Given the description of an element on the screen output the (x, y) to click on. 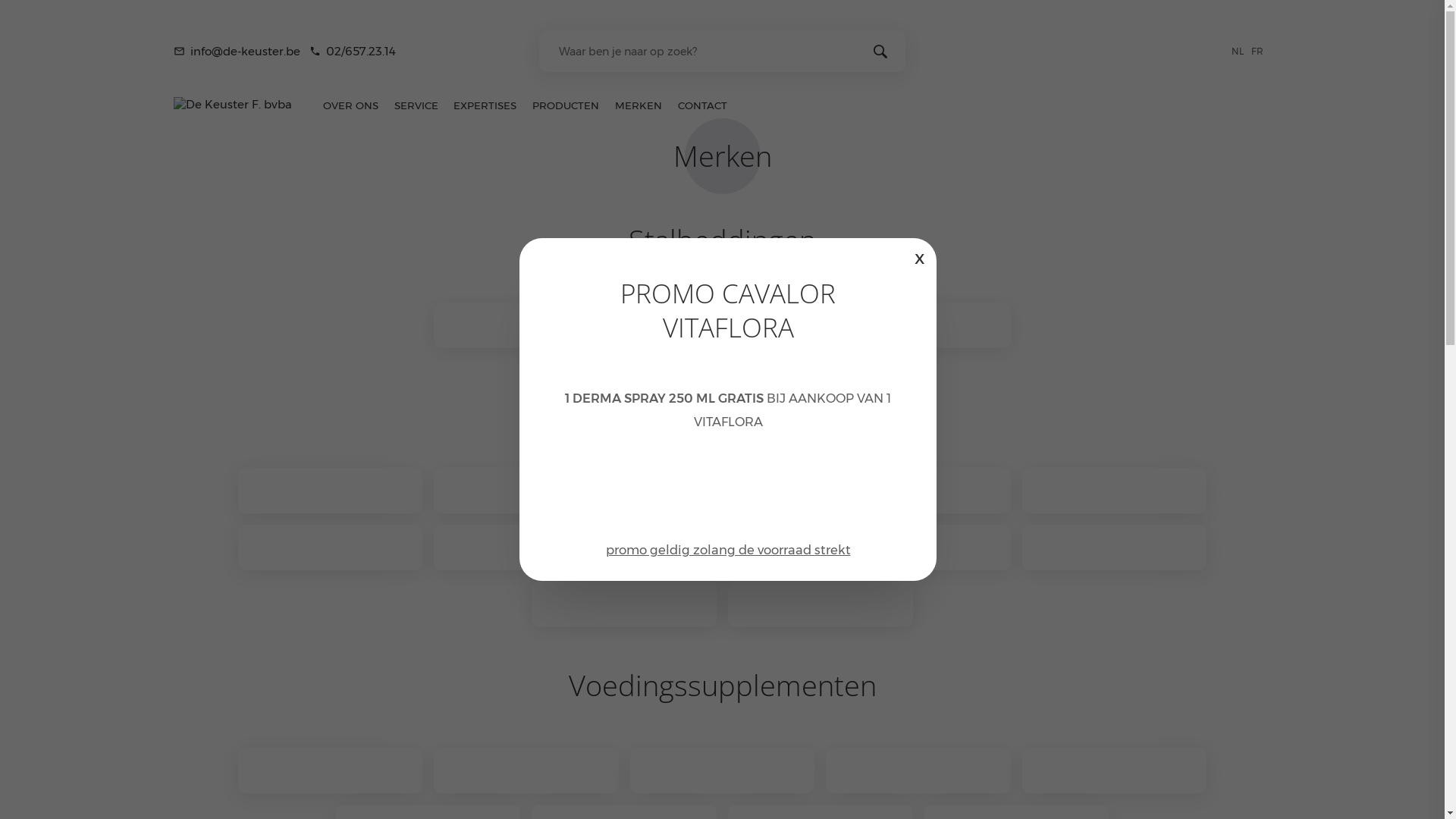
EQUIFIRST Element type: hover (1114, 490)
DODSON & HORRELL Element type: hover (330, 490)
BLEU-ROY Element type: hover (820, 604)
De Keuster F. bvba Element type: hover (232, 104)
EQUIBIOME / AGRITON Element type: hover (917, 325)
OVER ONS Element type: text (350, 105)
CONTACT Element type: text (702, 105)
phone
02/657.23.14 Element type: text (352, 51)
PRODUCTEN Element type: text (565, 105)
VITAL HERBS Element type: hover (722, 770)
JOPACK Element type: hover (917, 547)
CAVALOR Element type: hover (525, 490)
PAVO Element type: hover (722, 547)
SERVICE Element type: text (415, 105)
EXPERTISES Element type: text (485, 105)
JOPACK Element type: hover (722, 325)
FR Element type: text (1260, 50)
FORAN Element type: hover (330, 770)
LICK IT Element type: hover (525, 770)
NL Element type: text (1240, 50)
EQUIFYT Element type: hover (330, 547)
ROOSENS Element type: hover (623, 604)
promo geldig zolang de voorraad strekt Element type: text (728, 549)
ST HIPPOLYT Element type: hover (1114, 547)
PRIMEVAL Element type: hover (917, 770)
mail_outline
info@de-keuster.be Element type: text (236, 51)
x Element type: text (919, 257)
AGROBS Element type: hover (525, 547)
ALLSPAN Element type: hover (525, 325)
MERKEN Element type: text (638, 105)
DHOOGHE Element type: hover (917, 490)
BEST MIX Element type: hover (722, 490)
PAVO Element type: hover (1114, 770)
